Given the description of an element on the screen output the (x, y) to click on. 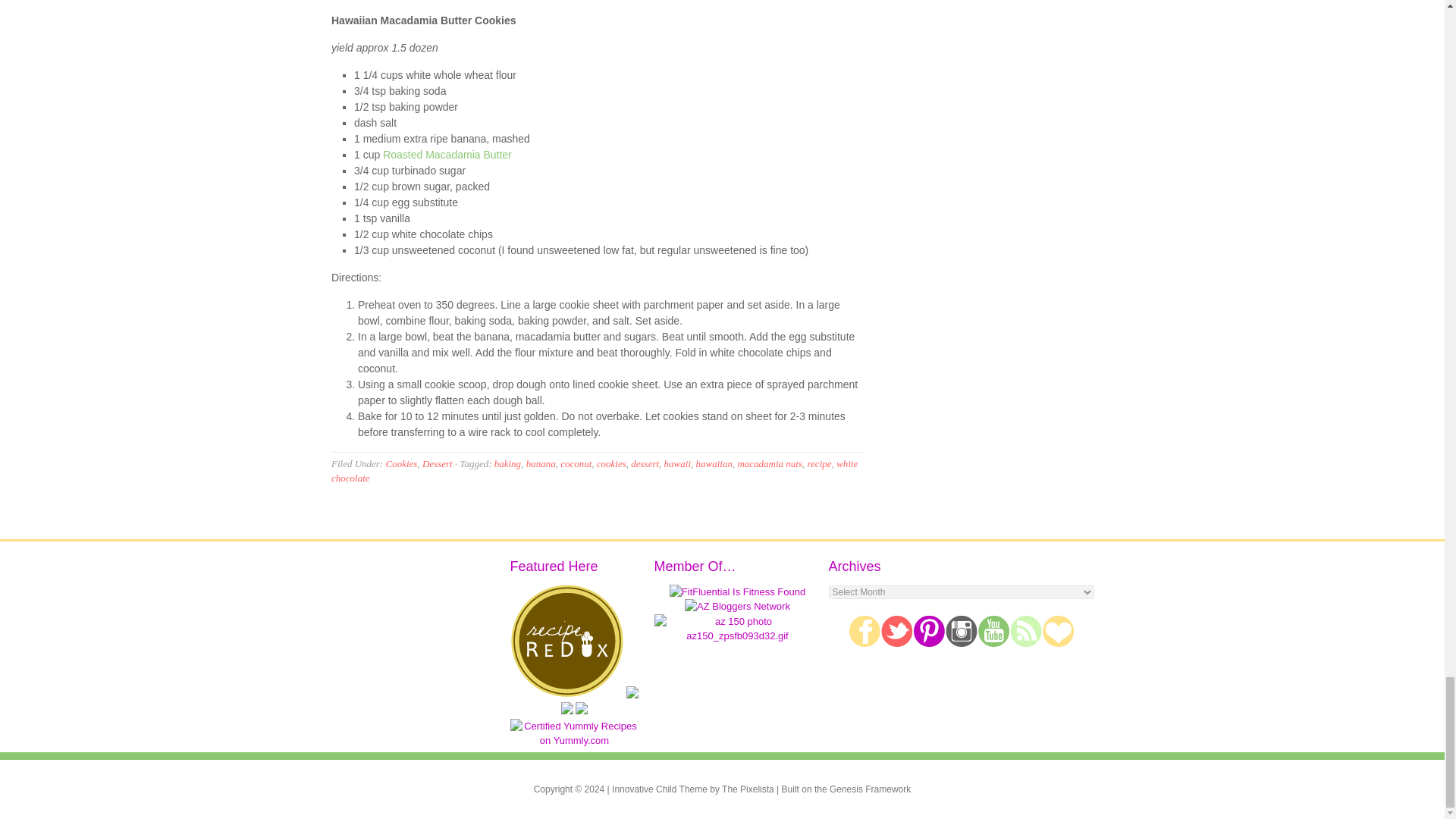
Roasted Macadamia Butter (447, 154)
dessert (644, 463)
banana (540, 463)
Dessert (437, 463)
cookies (611, 463)
coconut (575, 463)
Cookies (400, 463)
baking (508, 463)
